Given the description of an element on the screen output the (x, y) to click on. 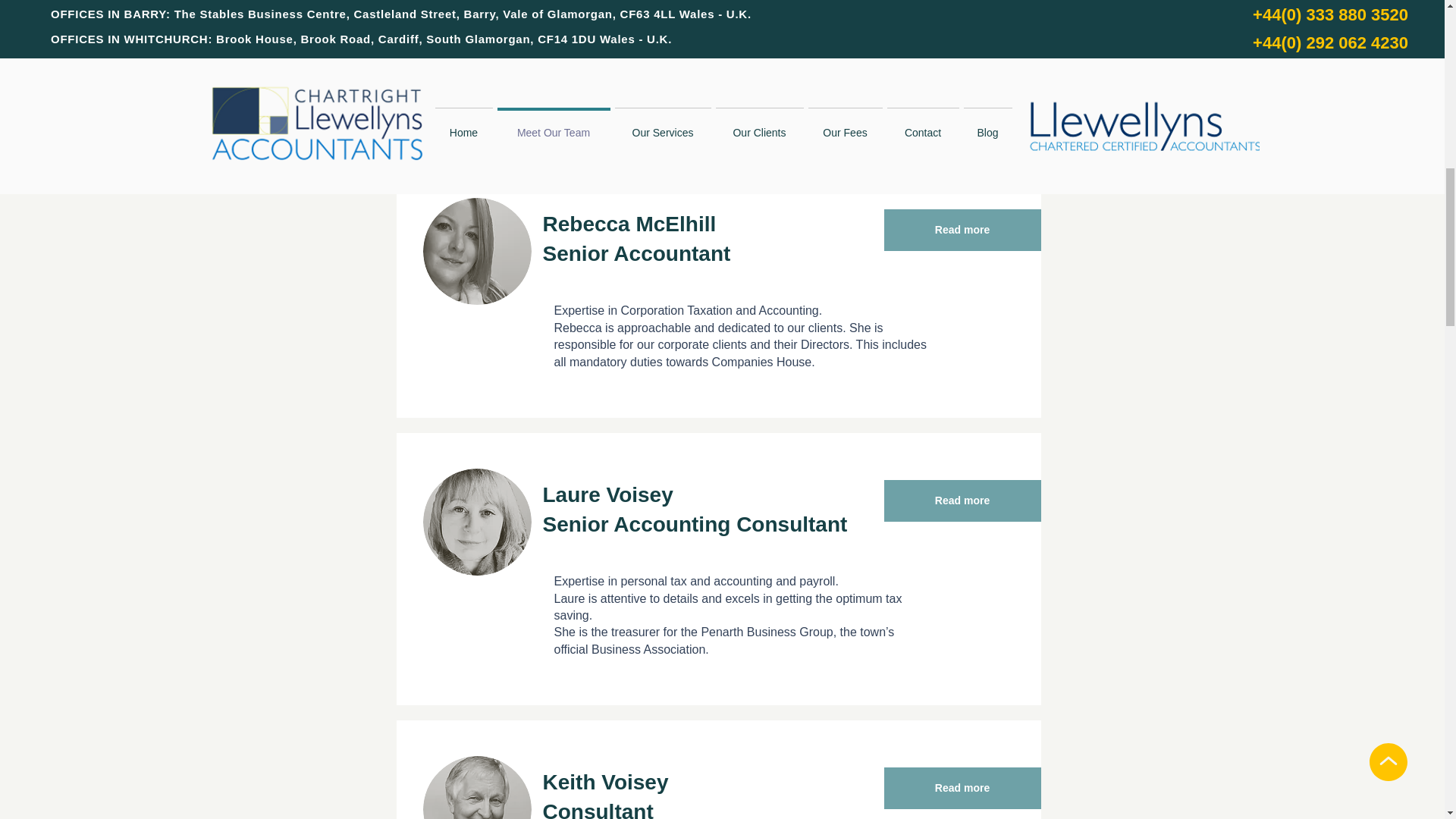
Contact Us (874, 59)
Read more (962, 229)
Read more (962, 500)
Read more (962, 788)
